Given the description of an element on the screen output the (x, y) to click on. 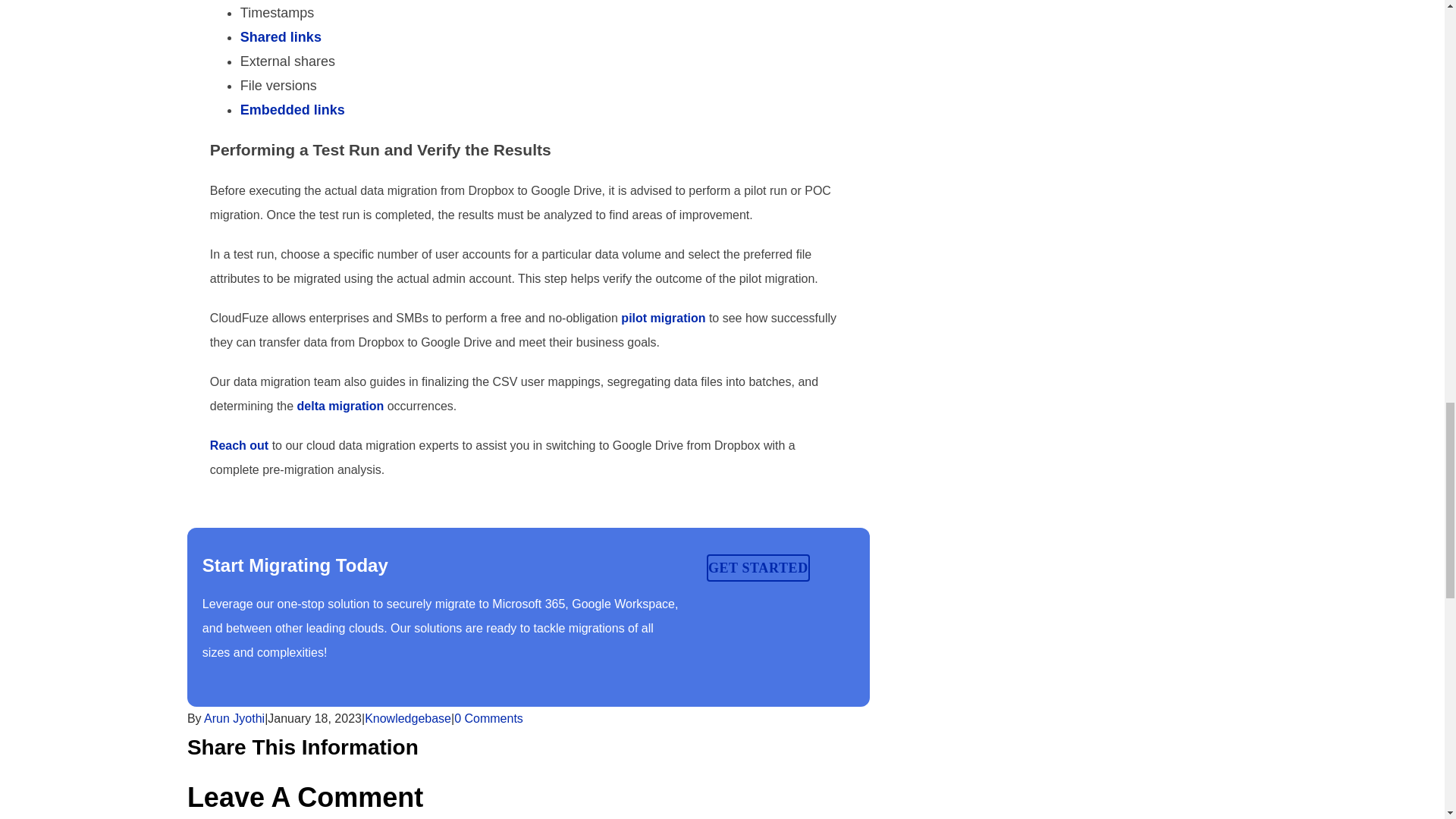
Posts by Arun Jyothi (233, 717)
